Given the description of an element on the screen output the (x, y) to click on. 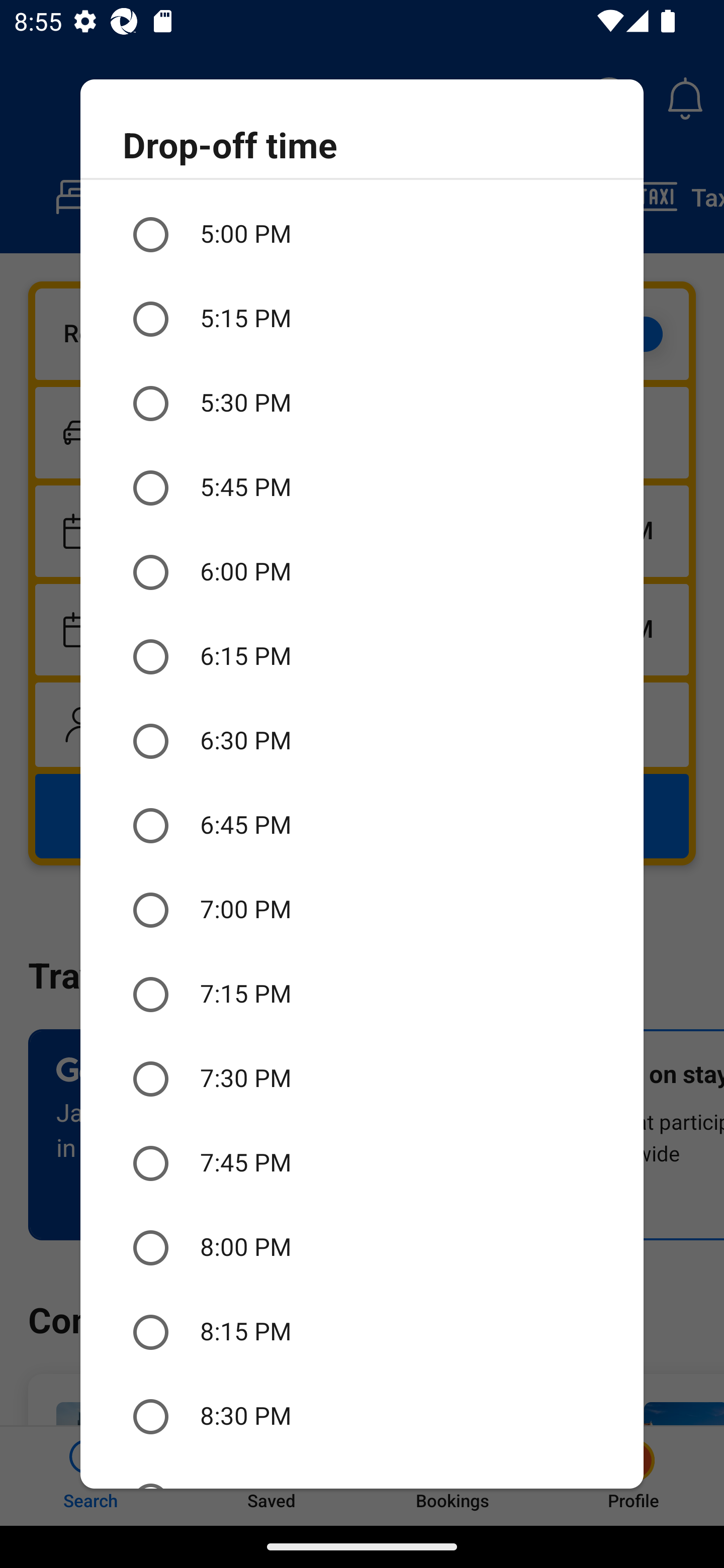
5:00 PM (361, 234)
5:15 PM (361, 318)
5:30 PM (361, 402)
5:45 PM (361, 487)
6:00 PM (361, 571)
6:15 PM (361, 656)
6:30 PM (361, 741)
6:45 PM (361, 826)
7:00 PM (361, 909)
7:15 PM (361, 993)
7:30 PM (361, 1078)
7:45 PM (361, 1163)
8:00 PM (361, 1247)
8:15 PM (361, 1332)
8:30 PM (361, 1416)
